Given the description of an element on the screen output the (x, y) to click on. 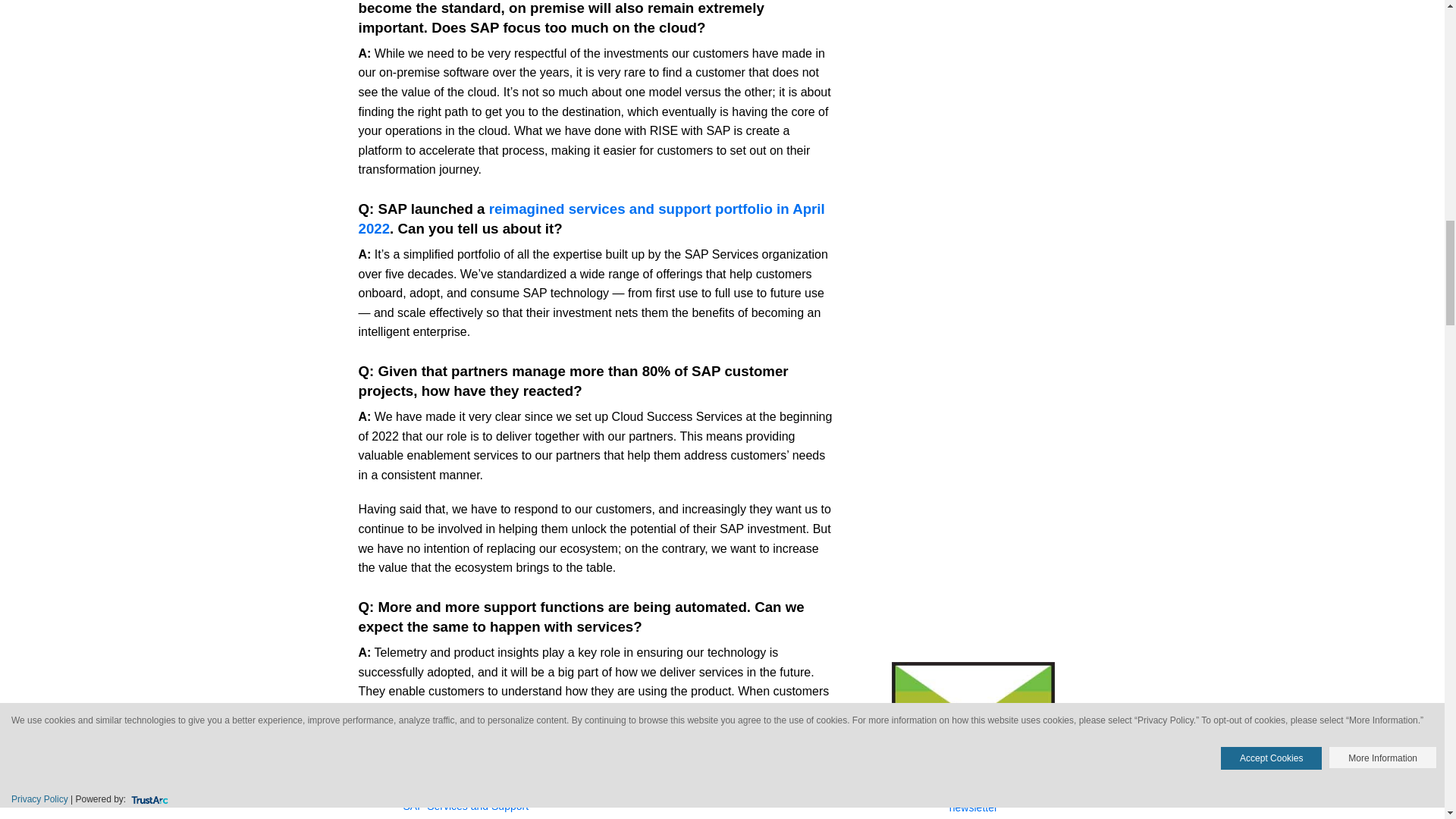
Sign up for the weekly SAP News Center newsletter (973, 800)
Cloud Success Services (462, 785)
SAP Services and Support (466, 806)
RISE with SAP (558, 785)
reimagined services and support portfolio in April 2022 (591, 218)
SAP BTP (621, 785)
